Given the description of an element on the screen output the (x, y) to click on. 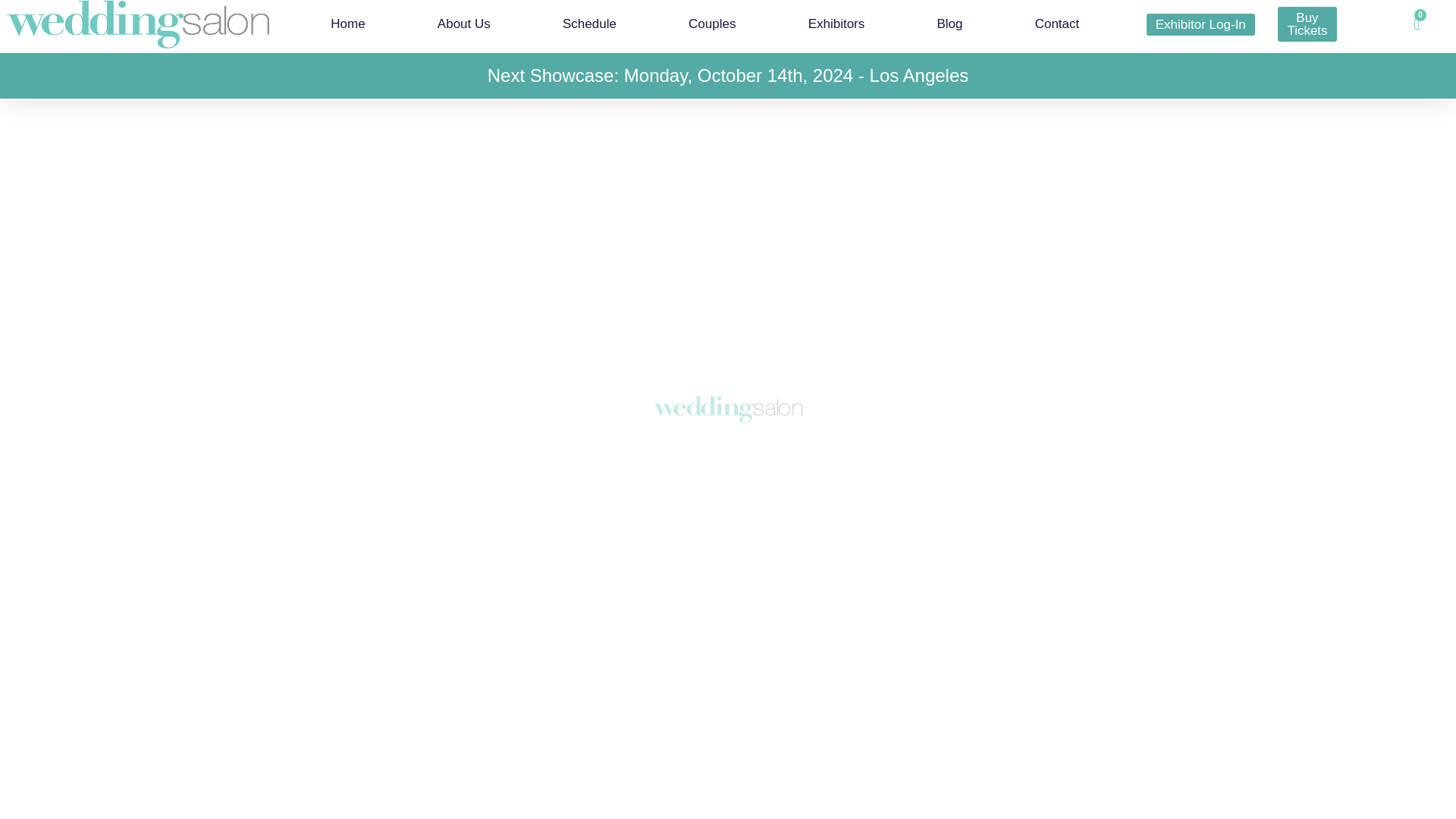
Home (347, 23)
Schedule (588, 23)
Couples (711, 23)
About Us (463, 23)
wedding salon logo (276, 547)
Contact (1057, 23)
Exhibitors (836, 23)
Blog (948, 23)
